Given the description of an element on the screen output the (x, y) to click on. 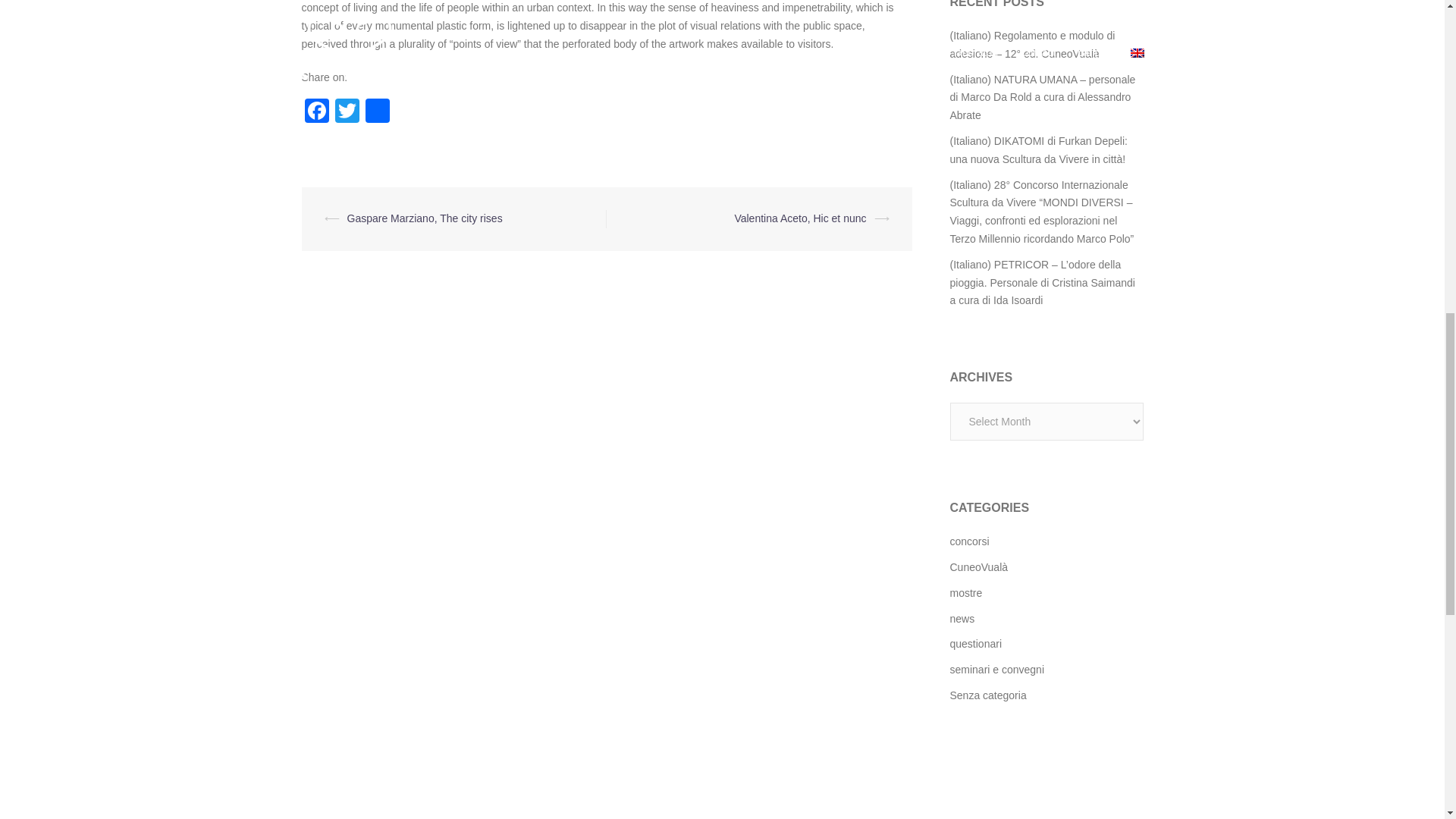
Valentina Aceto, Hic et nunc (799, 218)
Facebook (316, 112)
Twitter (346, 112)
mostre (965, 592)
Twitter (346, 112)
seminari e convegni (996, 669)
Gaspare Marziano, The city rises (424, 218)
news (961, 618)
concorsi (968, 541)
Facebook (316, 112)
